Given the description of an element on the screen output the (x, y) to click on. 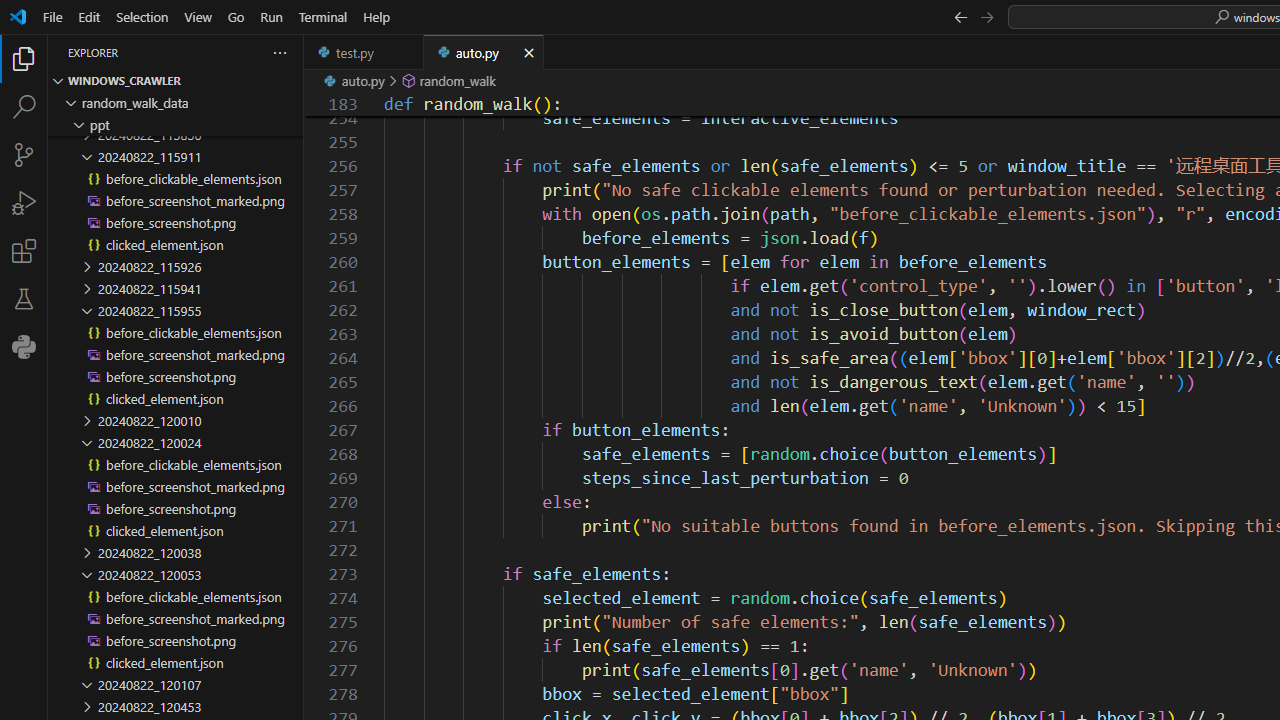
auto.py (483, 52)
Tab actions (528, 52)
Go Forward (Alt+RightArrow) (986, 16)
Run (271, 16)
Python (24, 346)
Explorer actions (208, 52)
test.py (363, 52)
Search (Ctrl+Shift+F) (24, 106)
Views and More Actions... (279, 52)
